Given the description of an element on the screen output the (x, y) to click on. 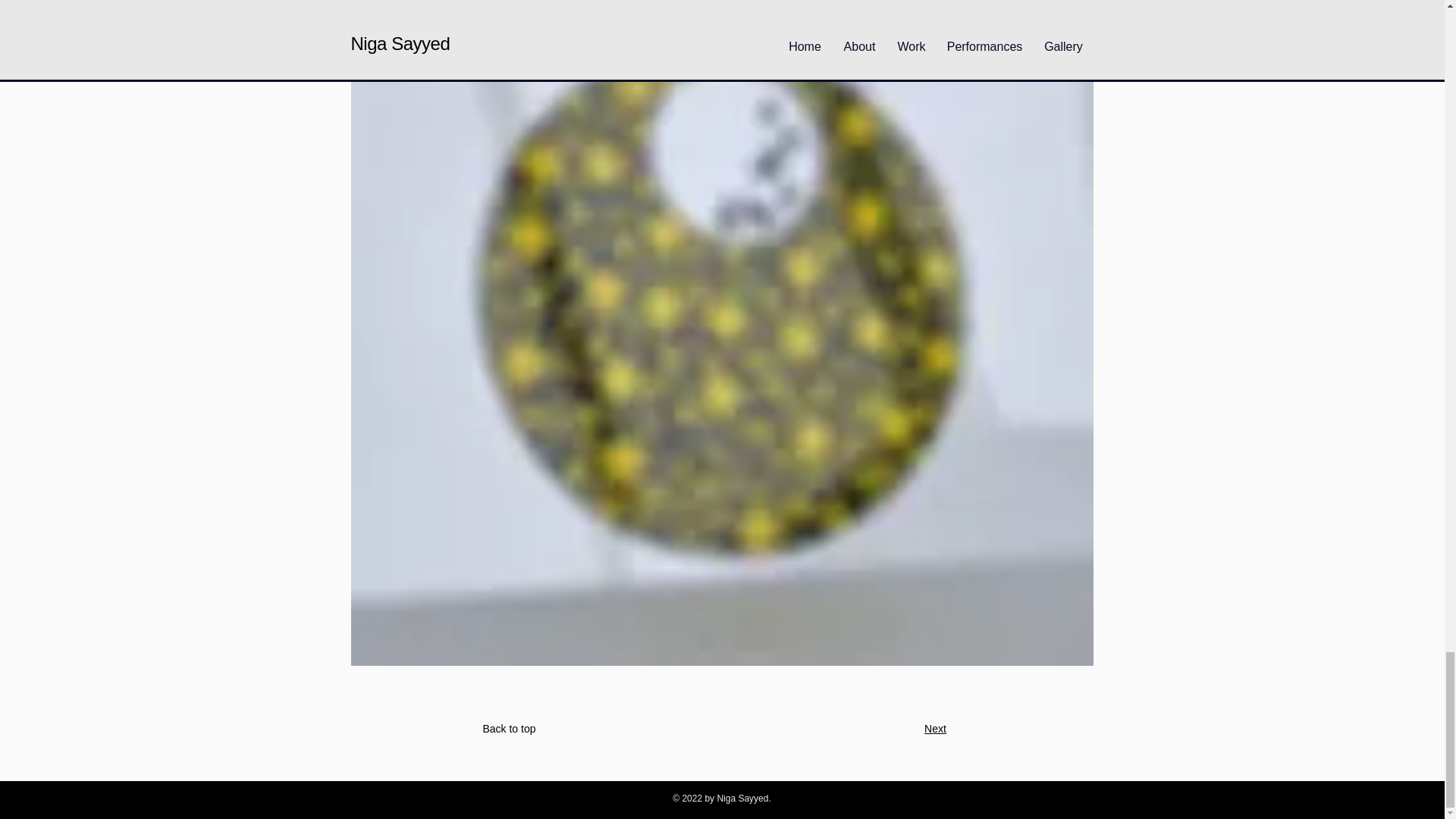
Back to top (508, 728)
Next (935, 728)
